Given the description of an element on the screen output the (x, y) to click on. 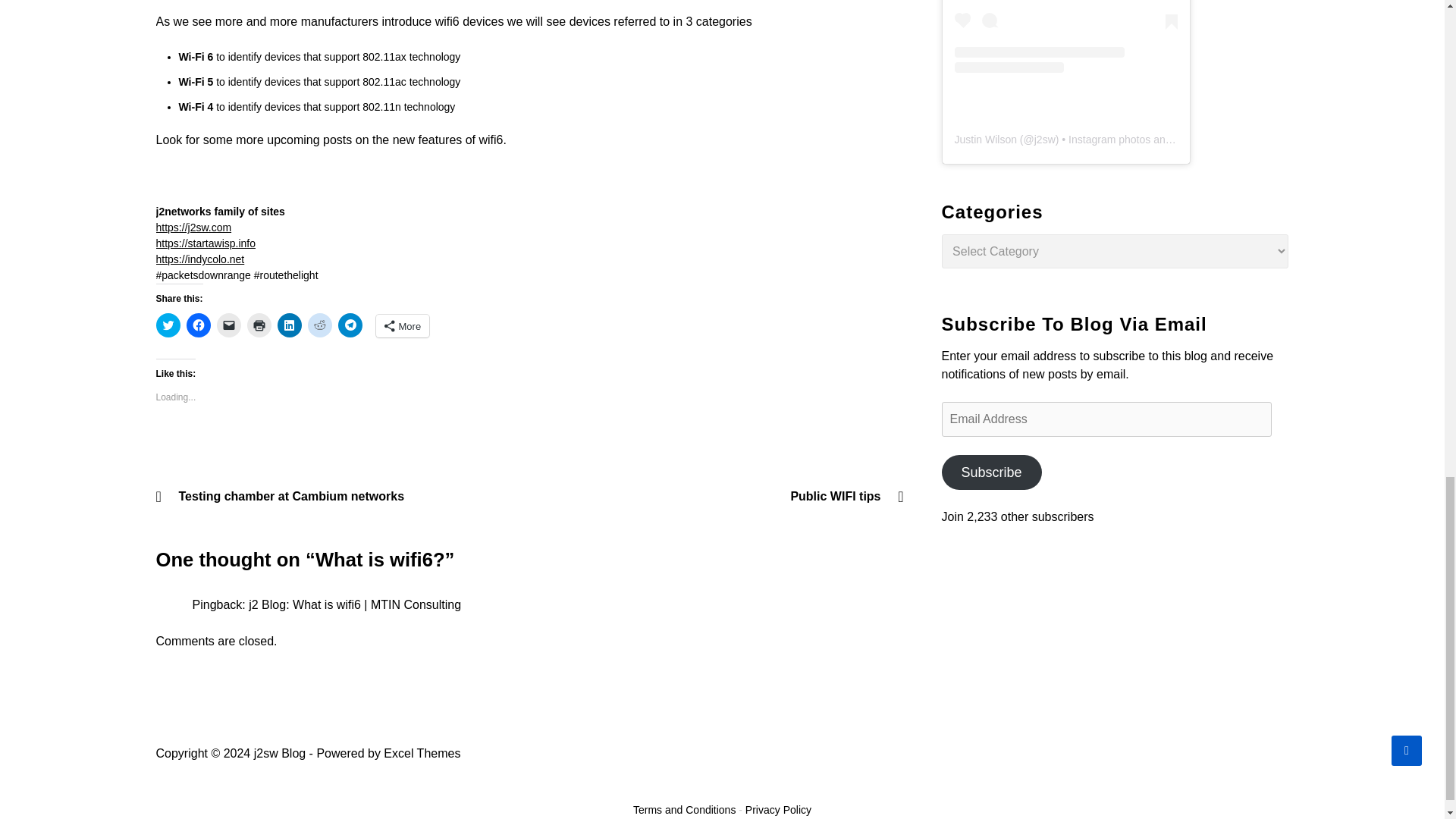
Click to email a link to a friend (228, 324)
Click to share on Twitter (167, 324)
More (402, 325)
Click to share on LinkedIn (289, 324)
Click to share on Reddit (319, 324)
Click to share on Telegram (349, 324)
Testing chamber at Cambium networks (339, 496)
Public WIFI tips (719, 496)
Click to share on Facebook (198, 324)
Click to print (258, 324)
